Given the description of an element on the screen output the (x, y) to click on. 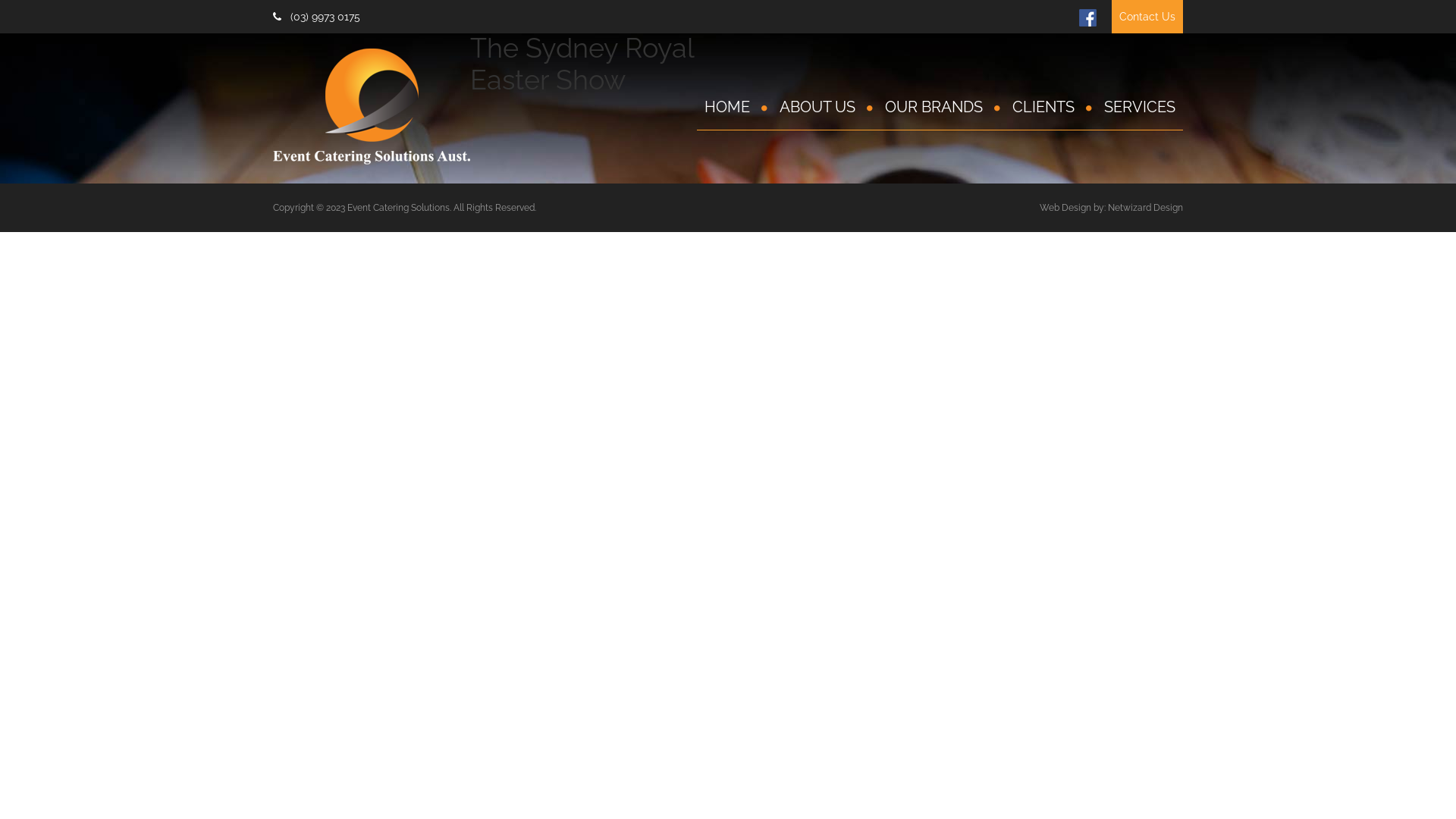
Contact Us Element type: text (1147, 16)
HOME Element type: text (736, 106)
ABOUT US Element type: text (826, 106)
CLIENTS Element type: text (1052, 106)
Netwizard Design Element type: text (1145, 207)
OUR BRANDS Element type: text (942, 106)
SERVICES Element type: text (1139, 106)
